Given the description of an element on the screen output the (x, y) to click on. 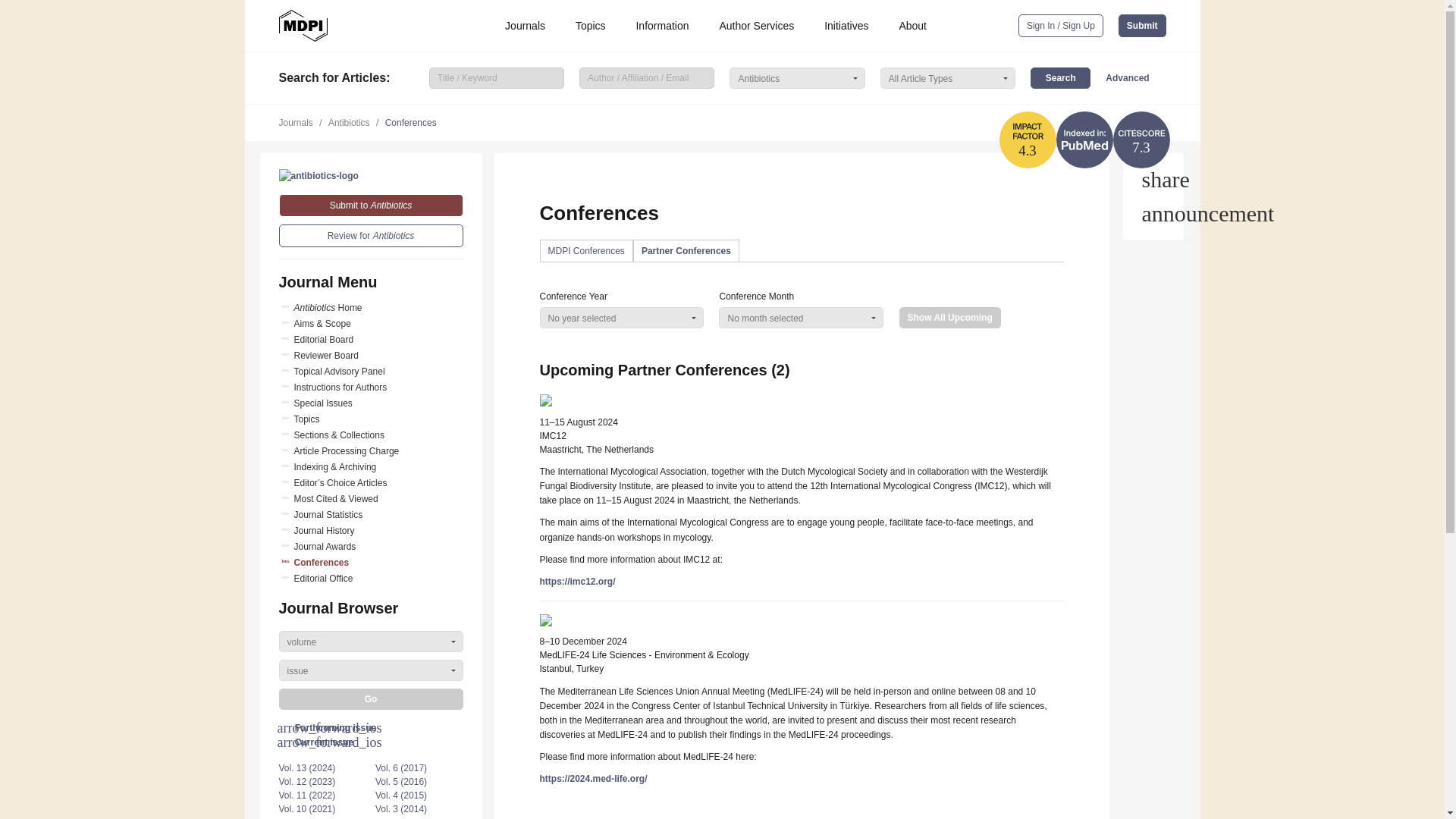
MDPI Open Access Journals (303, 25)
Antibiotics (318, 175)
Go (371, 699)
Help (1152, 213)
Search (1060, 77)
Show All Upcoming (950, 317)
Search (1060, 77)
Share (1152, 179)
